Given the description of an element on the screen output the (x, y) to click on. 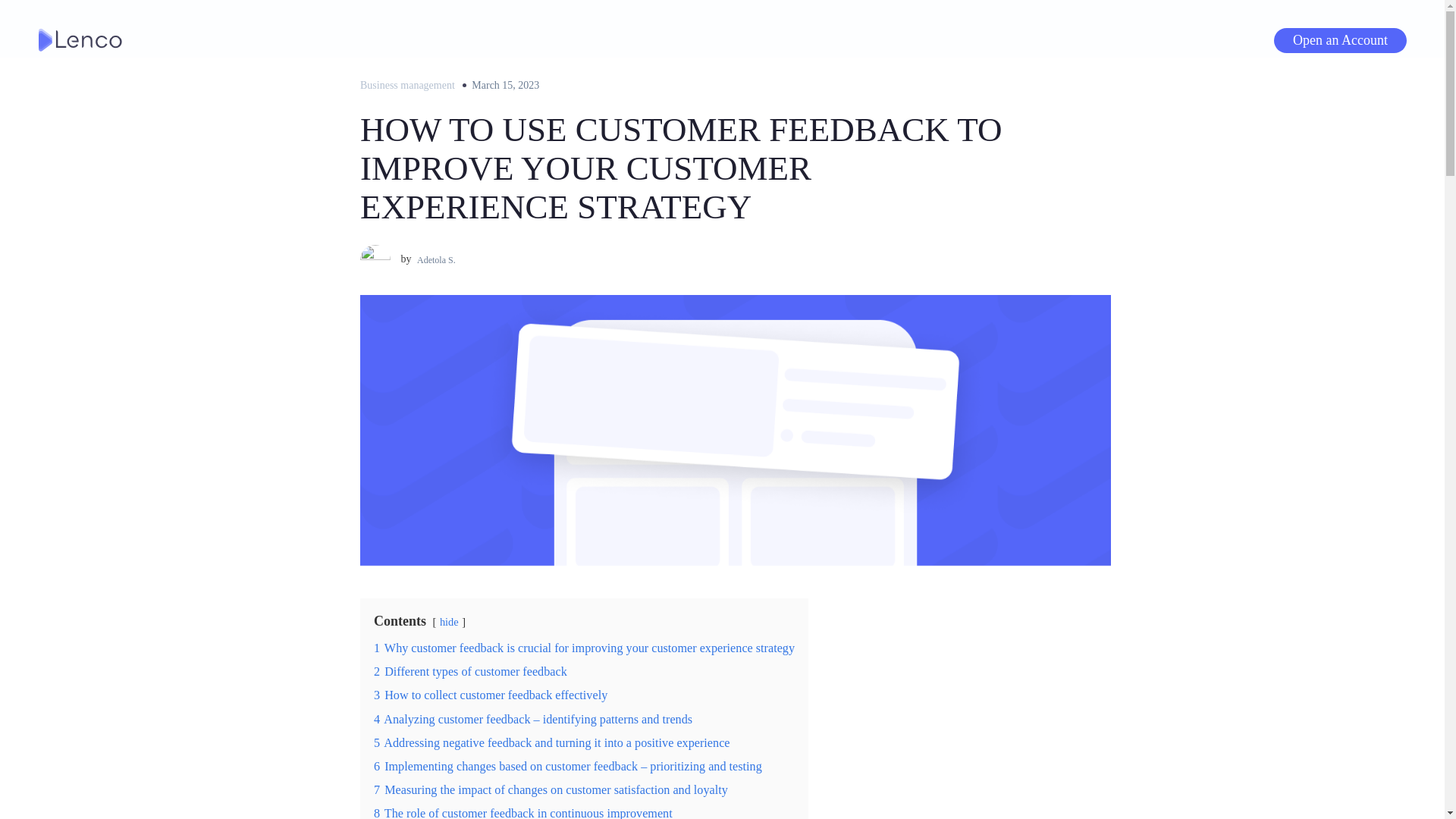
Business management (406, 84)
Adetola S. (434, 259)
hide (448, 621)
3 How to collect customer feedback effectively (490, 694)
Open an Account (1339, 38)
Business management (406, 84)
8 The role of customer feedback in continuous improvement (523, 812)
